Given the description of an element on the screen output the (x, y) to click on. 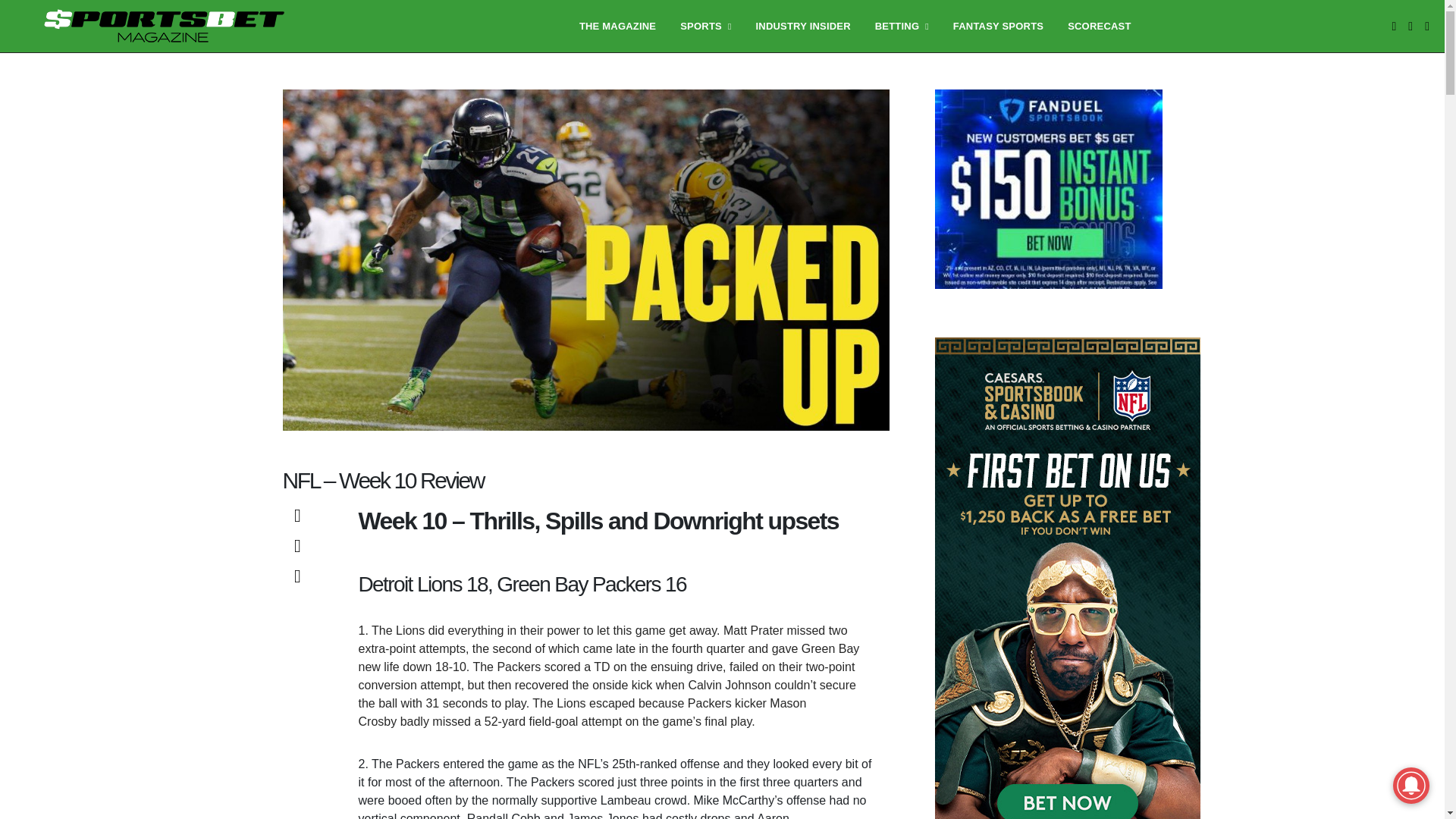
SPORTS (704, 26)
THE MAGAZINE (617, 26)
